Given the description of an element on the screen output the (x, y) to click on. 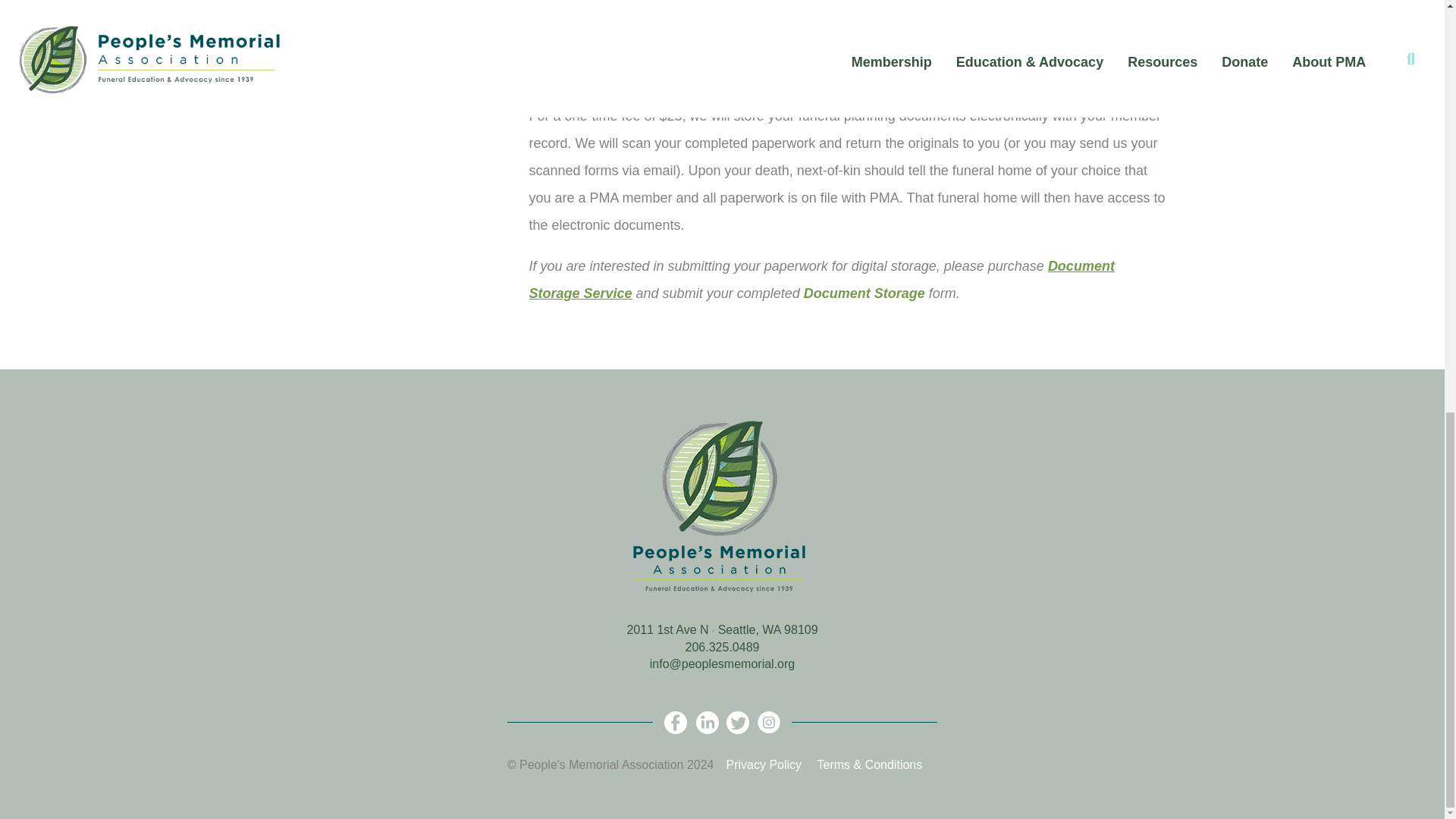
logo (721, 508)
